Given the description of an element on the screen output the (x, y) to click on. 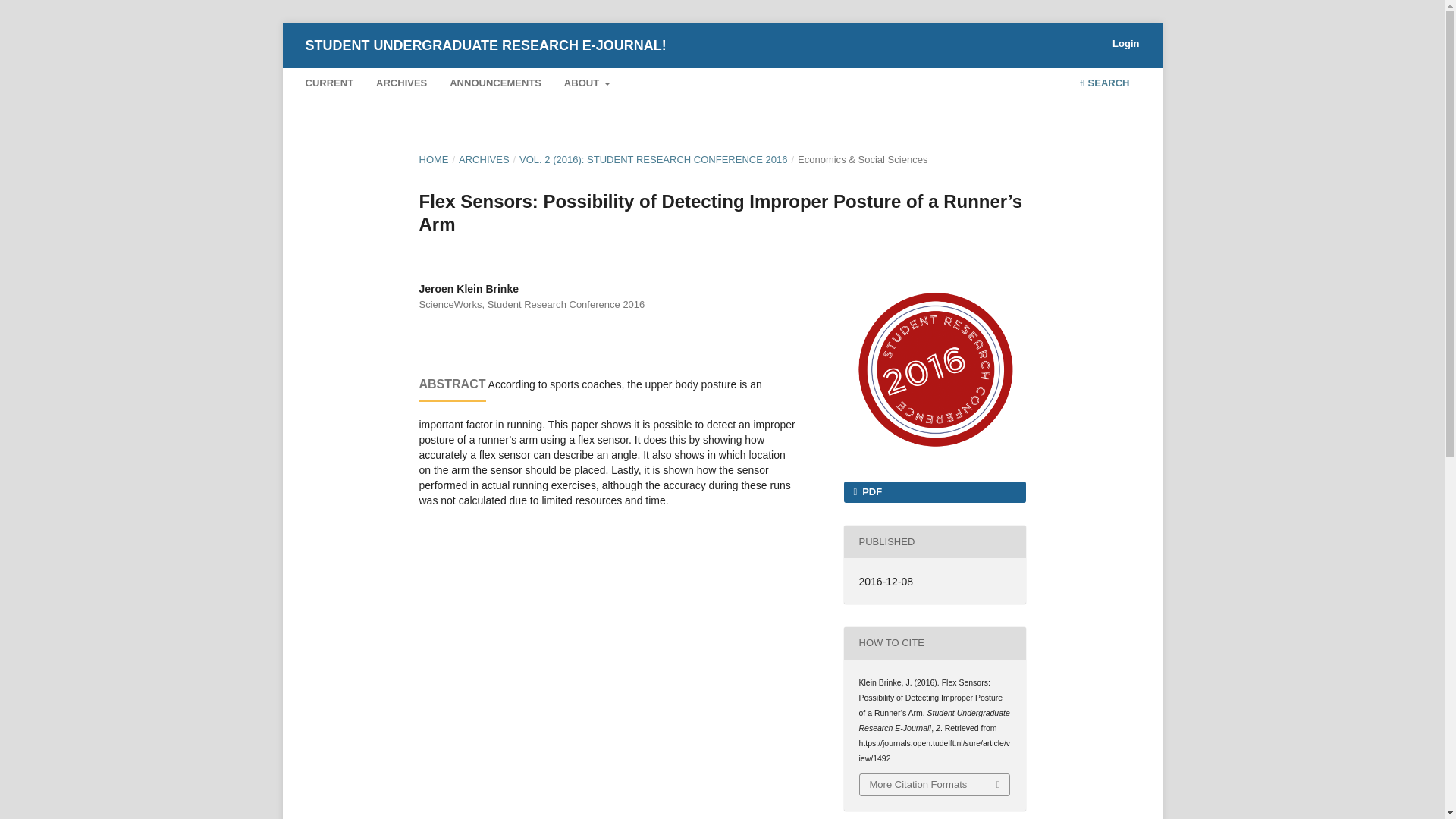
ABOUT (586, 85)
SEARCH (1104, 85)
PDF (934, 491)
CURRENT (328, 85)
Login (1126, 43)
ANNOUNCEMENTS (496, 85)
ARCHIVES (483, 159)
STUDENT UNDERGRADUATE RESEARCH E-JOURNAL! (484, 45)
HOME (433, 159)
ARCHIVES (401, 85)
More Citation Formats (935, 784)
